Given the description of an element on the screen output the (x, y) to click on. 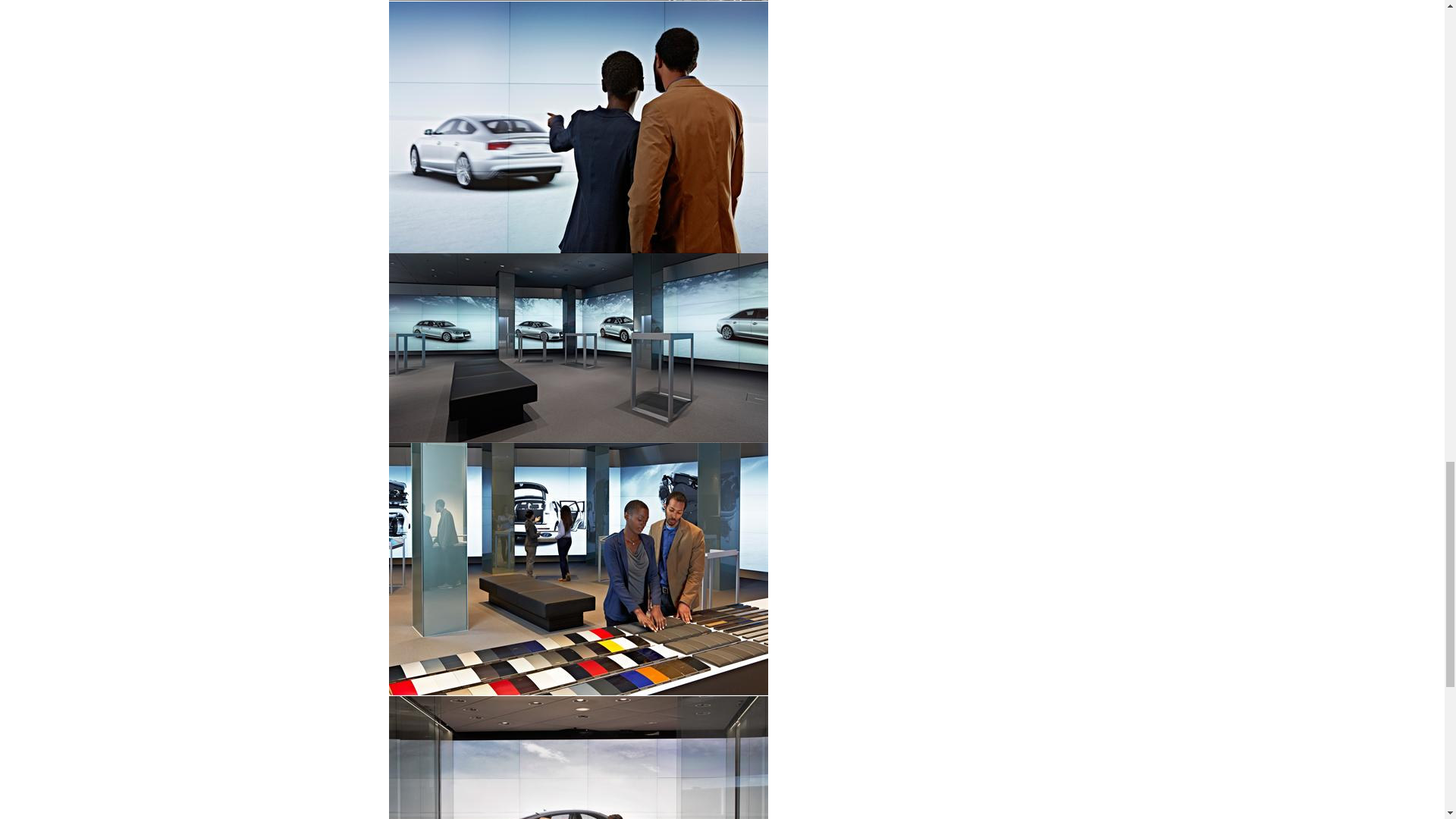
Audi City 5 (577, 569)
Audi City 3 (577, 127)
Audi City 6 (577, 757)
Audi City 4 (577, 348)
